Given the description of an element on the screen output the (x, y) to click on. 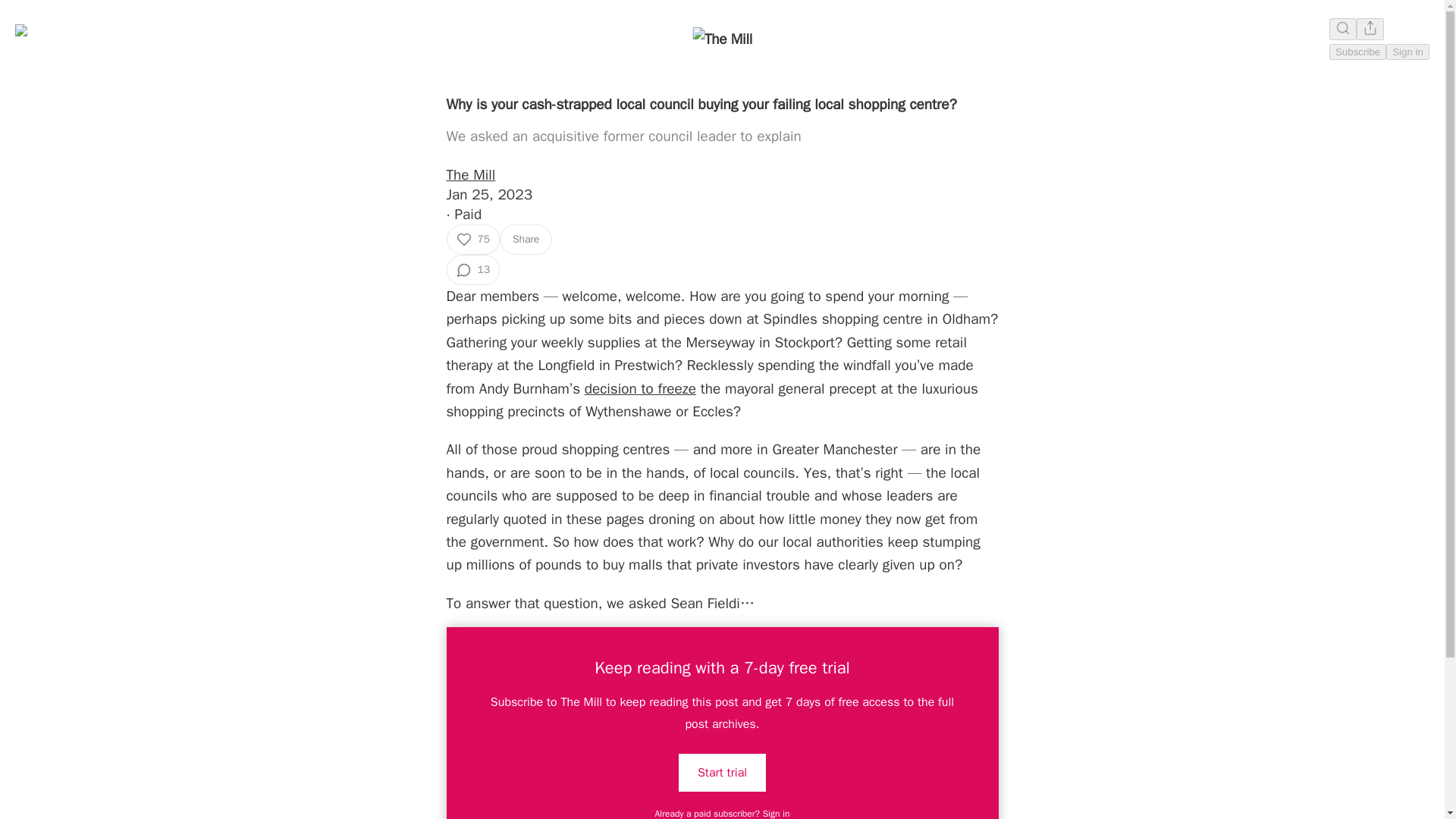
Sign in (1407, 51)
Start trial (721, 771)
Start trial (721, 772)
Already a paid subscriber? Sign in (722, 813)
The Mill (470, 175)
decision to freeze (640, 389)
Subscribe (1357, 51)
75 (472, 239)
13 (472, 269)
Share (525, 239)
